Given the description of an element on the screen output the (x, y) to click on. 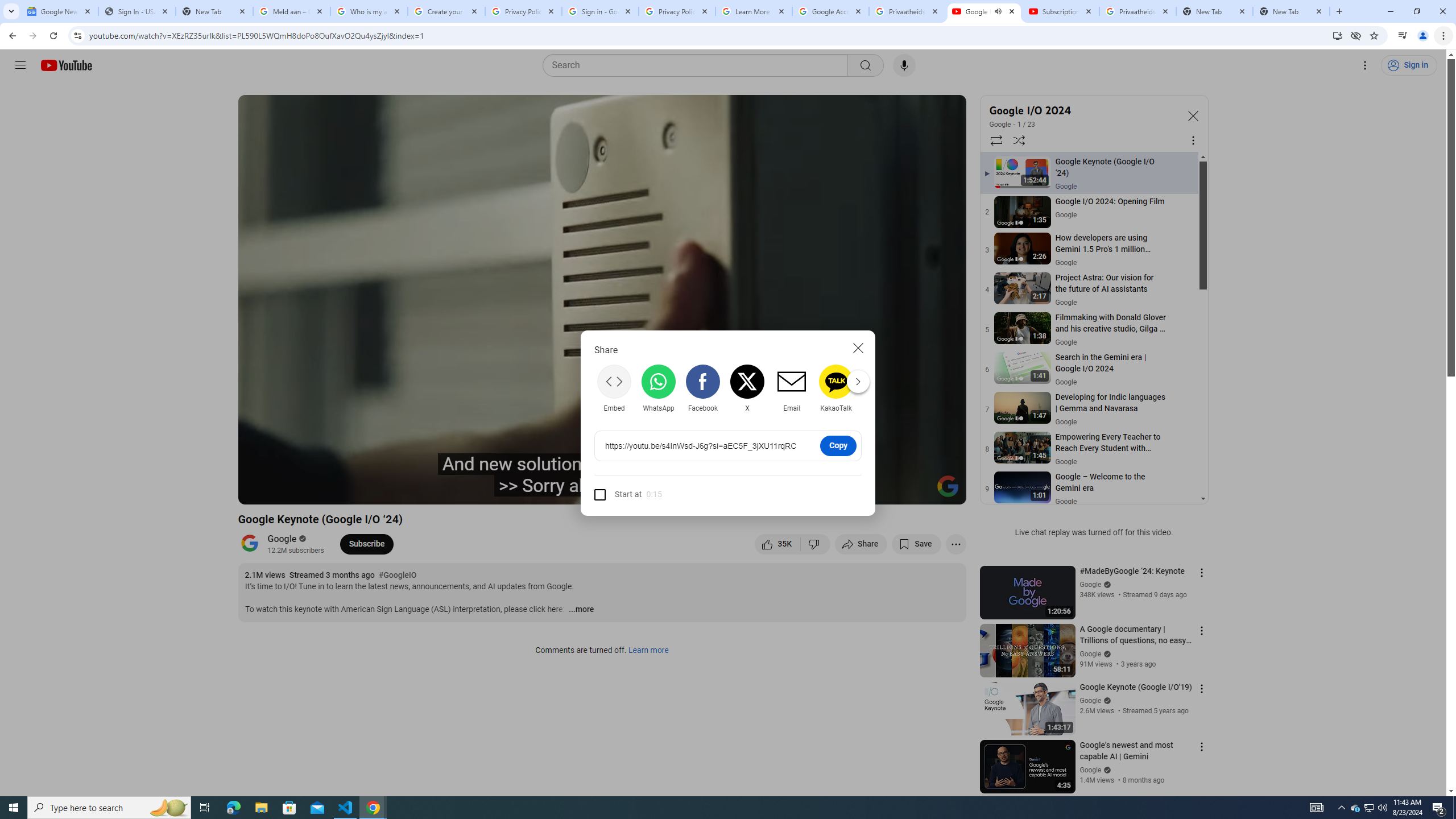
Create your Google Account (446, 11)
Verified (1106, 769)
like this video along with 35,367 other people (777, 543)
Embed (614, 388)
Channel watermark (947, 486)
Install YouTube (1336, 35)
Google News (59, 11)
More actions (955, 543)
Learn more (647, 650)
